Given the description of an element on the screen output the (x, y) to click on. 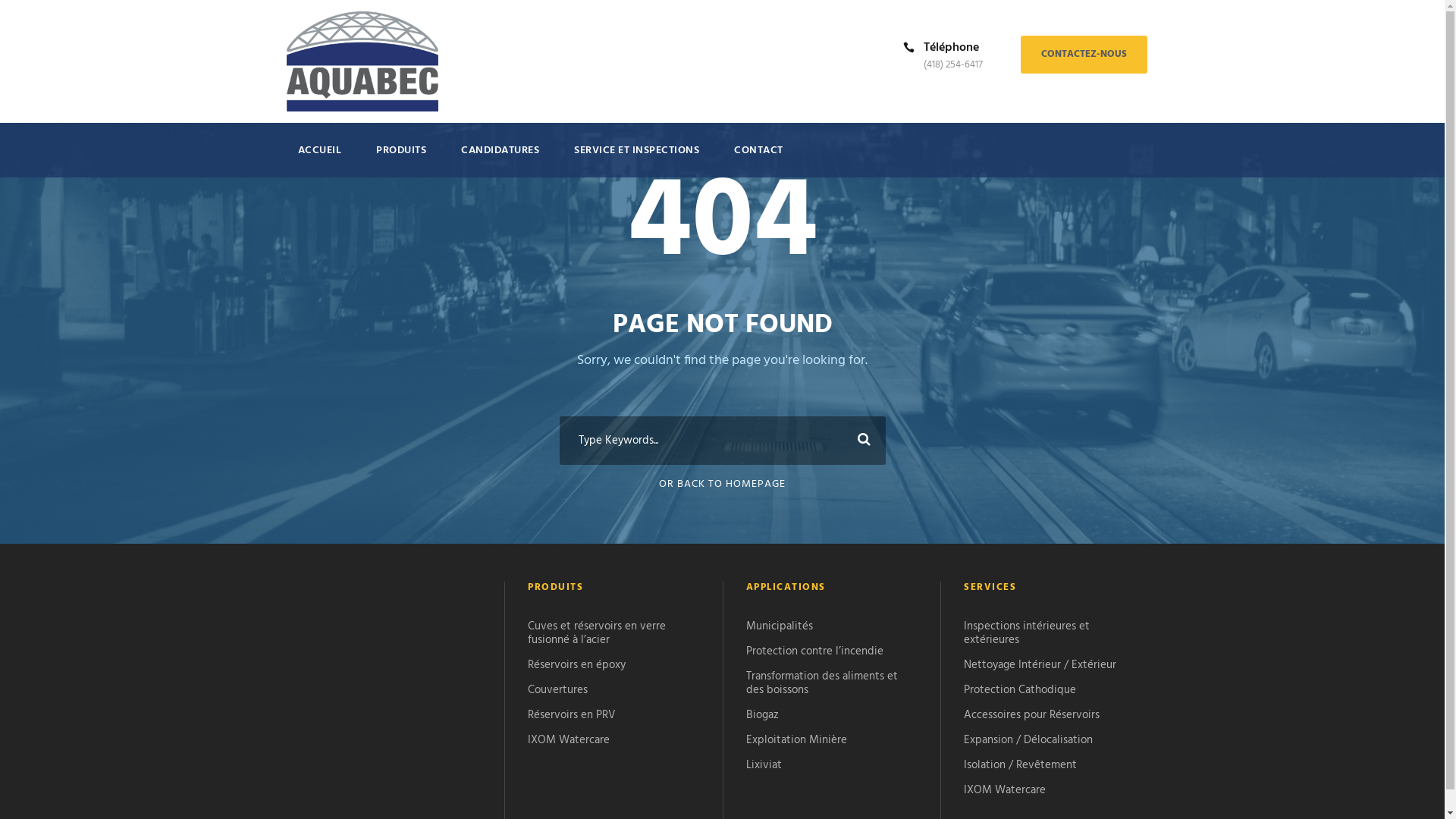
Search Element type: text (860, 440)
SERVICE ET INSPECTIONS Element type: text (636, 159)
CONTACT Element type: text (758, 159)
OR BACK TO HOMEPAGE Element type: text (721, 483)
IXOM Watercare Element type: text (568, 740)
CANDIDATURES Element type: text (500, 159)
Couvertures Element type: text (557, 689)
IXOM Watercare Element type: text (1004, 790)
Transformation des aliments et des boissons Element type: text (821, 683)
CONTACTEZ-NOUS Element type: text (1083, 54)
Lixiviat Element type: text (763, 765)
ACCUEIL Element type: text (319, 159)
Biogaz Element type: text (762, 715)
AQ_FullColor Element type: hover (362, 61)
Protection Cathodique Element type: text (1019, 689)
PRODUITS Element type: text (401, 159)
